Given the description of an element on the screen output the (x, y) to click on. 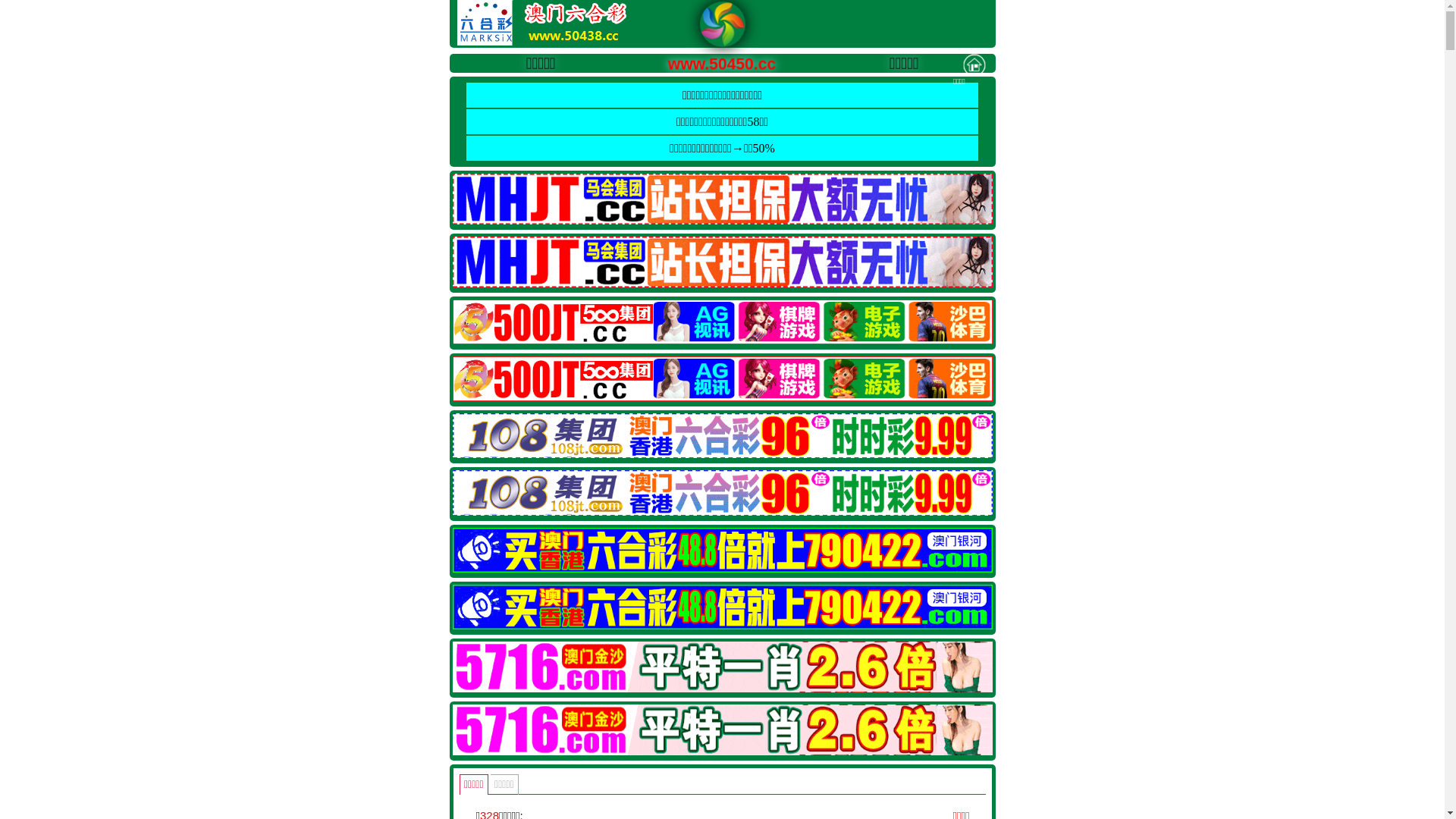
www.50450.cc Element type: text (705, 61)
